Given the description of an element on the screen output the (x, y) to click on. 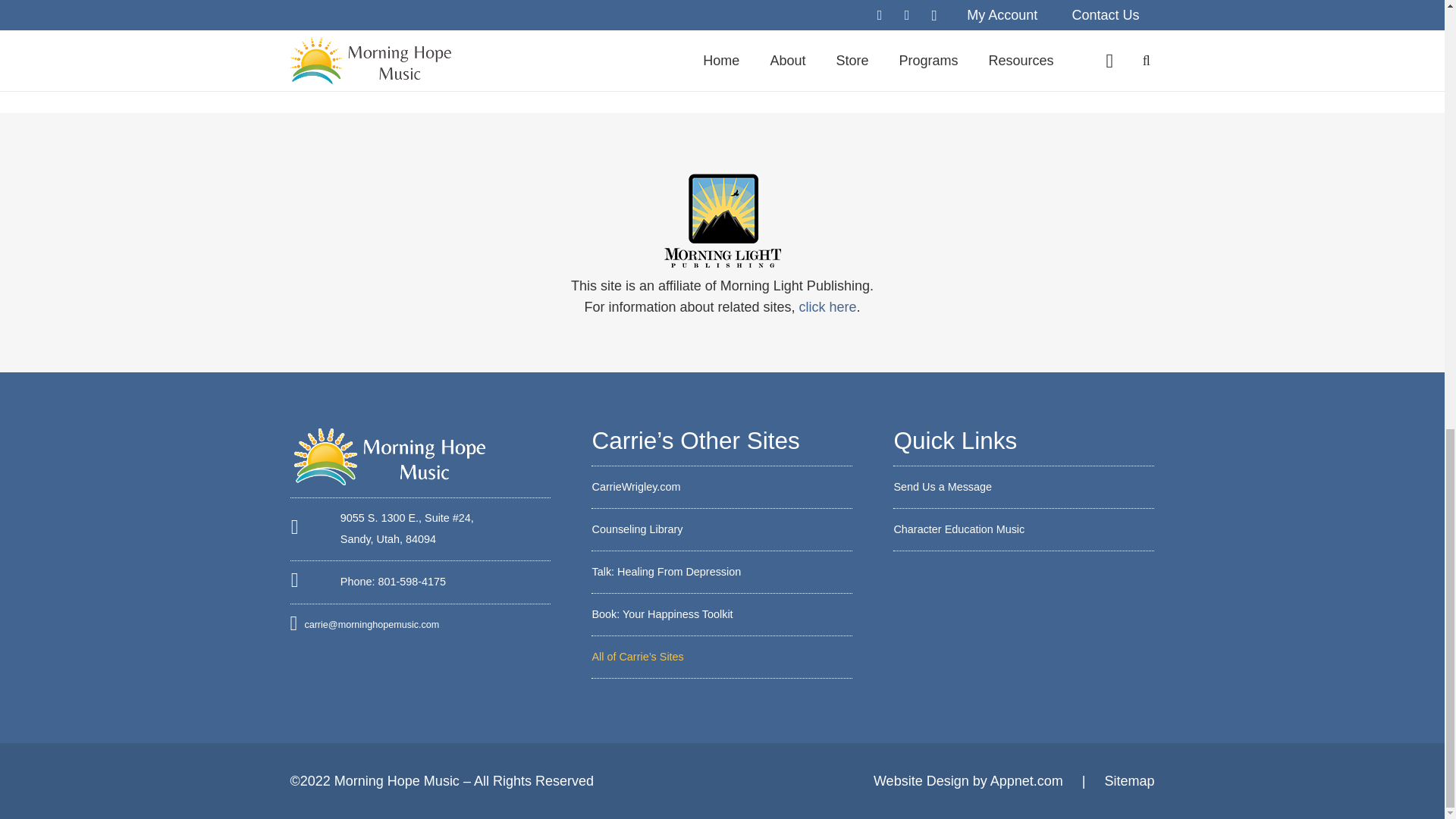
Contact (942, 486)
